Given the description of an element on the screen output the (x, y) to click on. 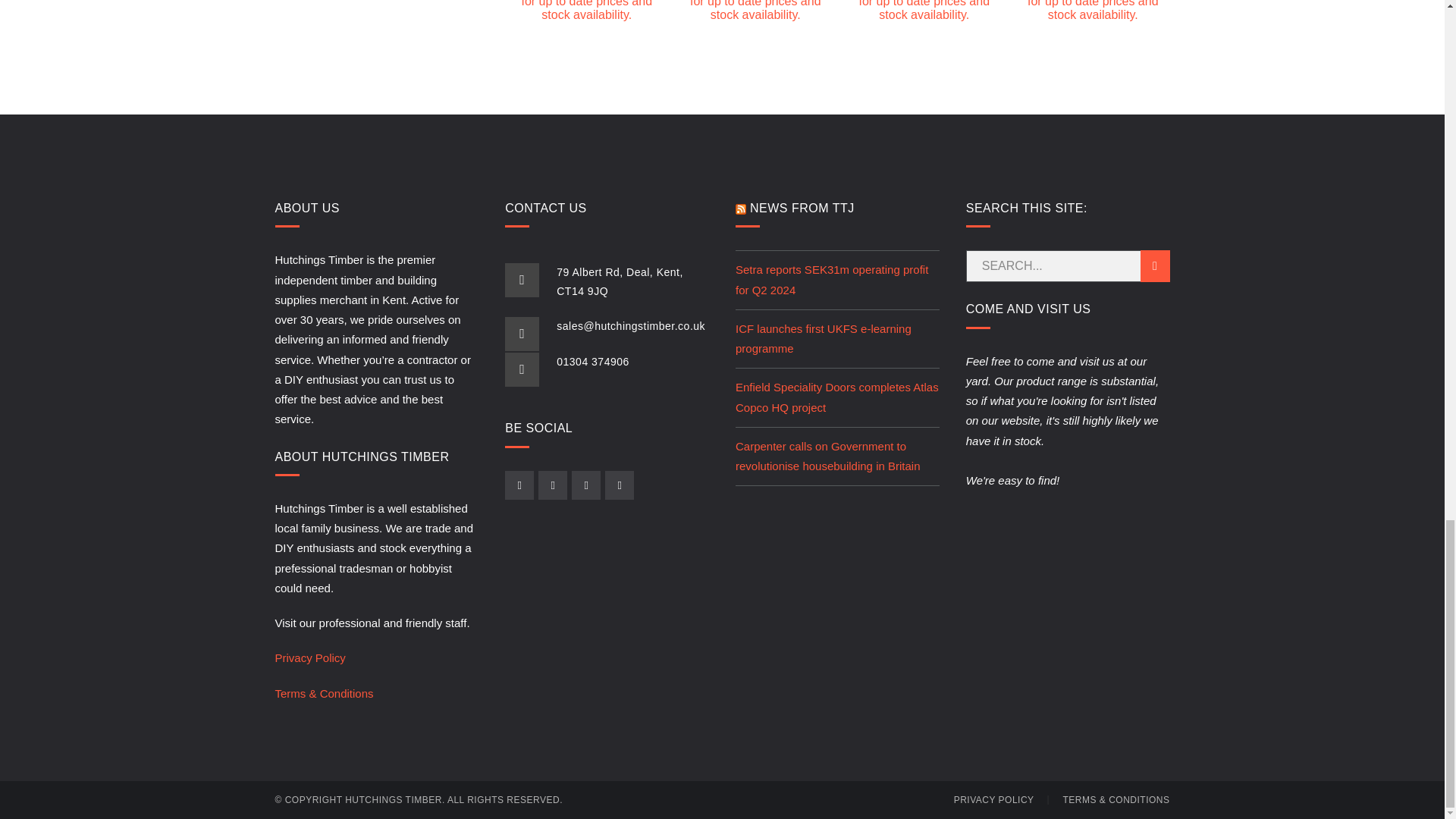
Search for: (1068, 265)
Search (1155, 265)
